Given the description of an element on the screen output the (x, y) to click on. 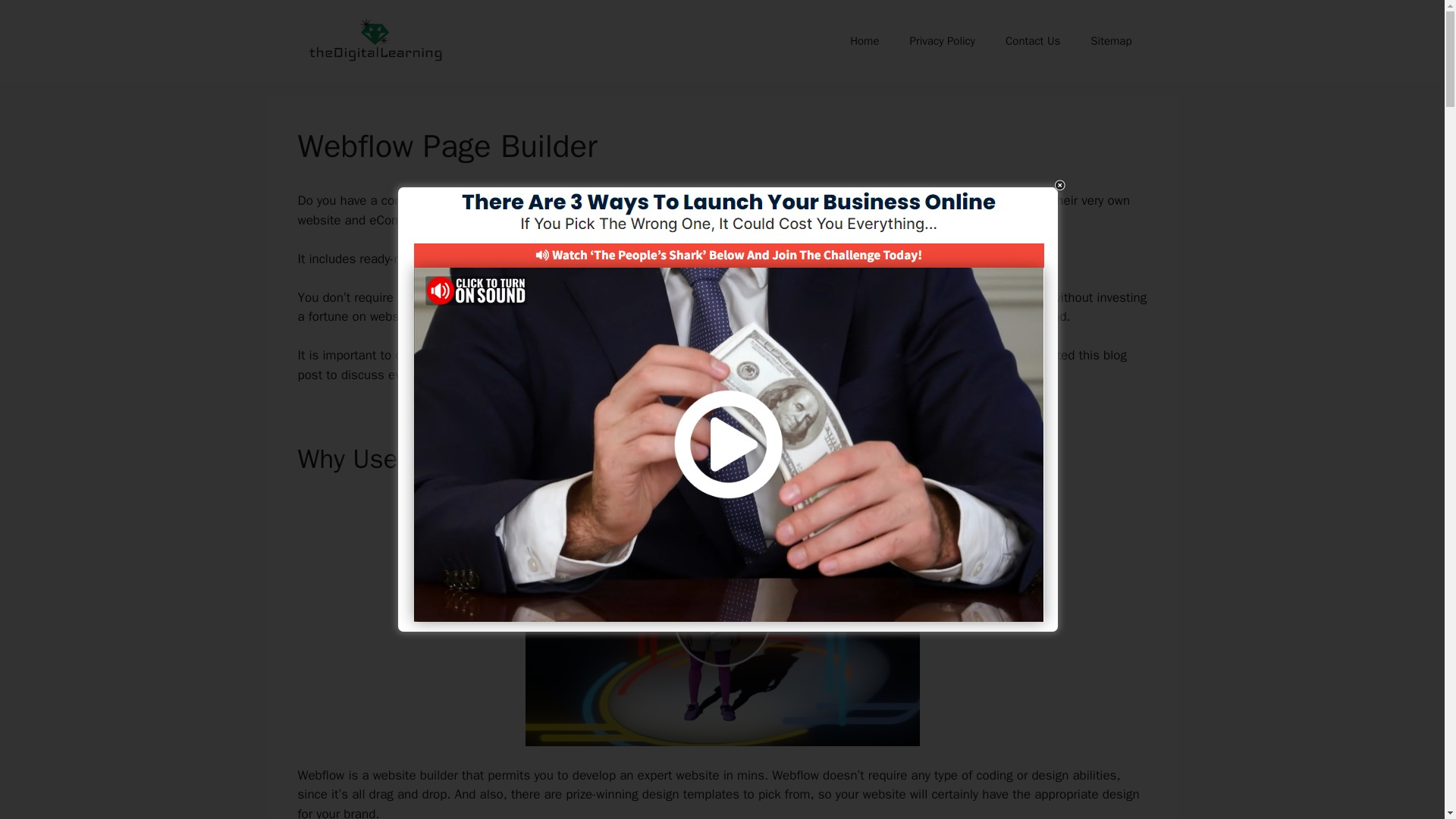
Home (863, 40)
Contact Us (1032, 40)
Sitemap (1111, 40)
Privacy Policy (941, 40)
